Given the description of an element on the screen output the (x, y) to click on. 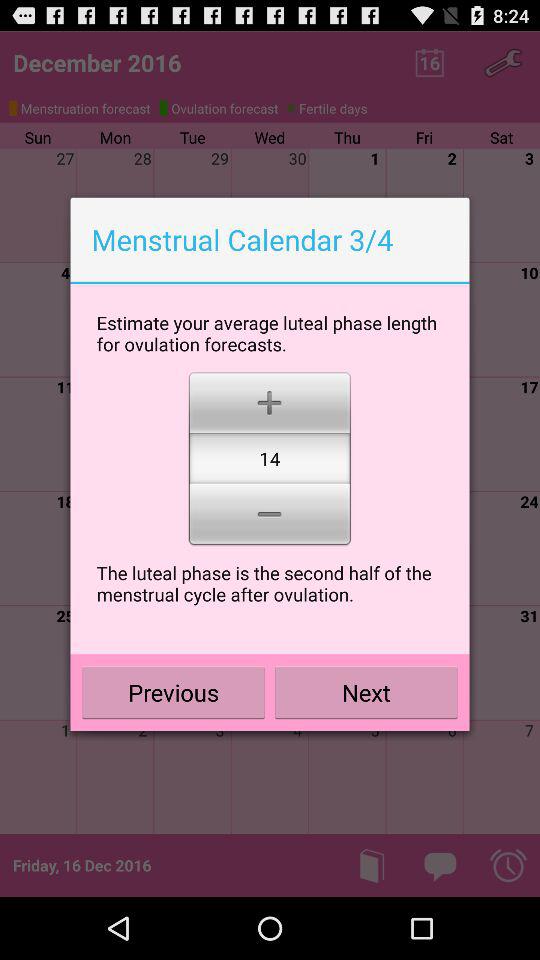
click to add option (269, 400)
